Given the description of an element on the screen output the (x, y) to click on. 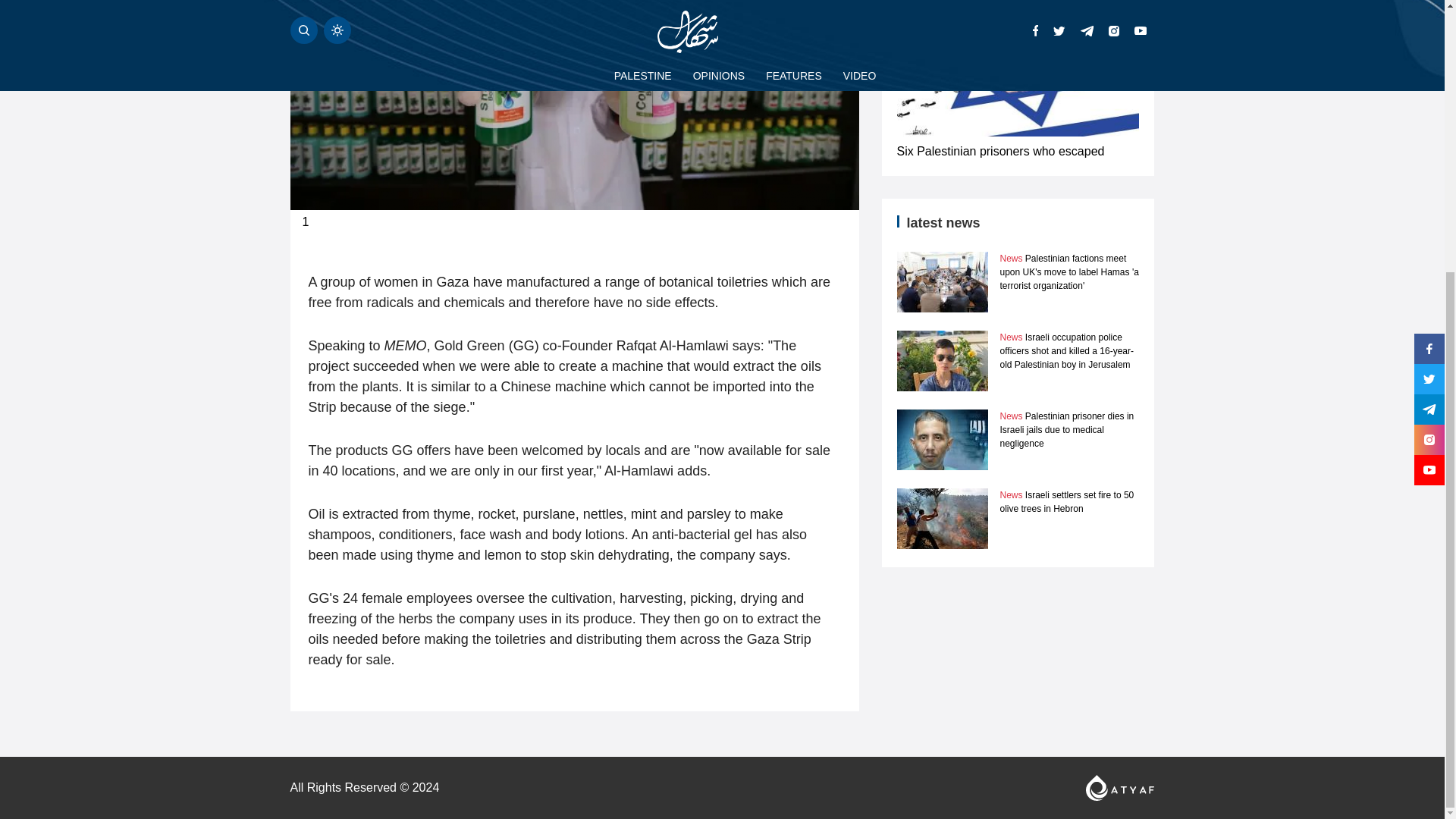
News Israeli settlers set fire to 50 olive trees in Hebron (1066, 501)
Six Palestinian prisoners who escaped (999, 151)
